Given the description of an element on the screen output the (x, y) to click on. 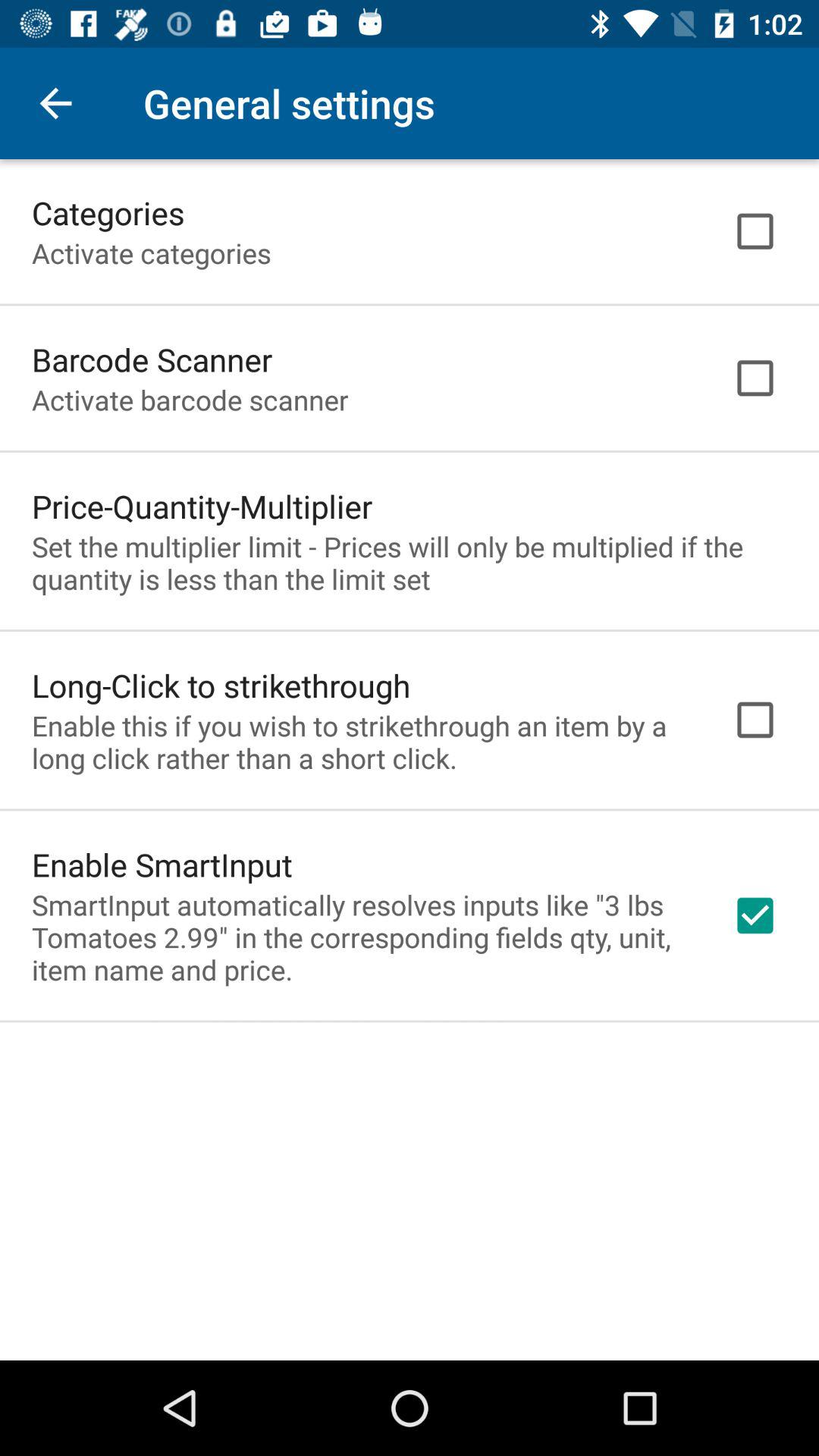
turn off the item below long click to item (361, 741)
